Given the description of an element on the screen output the (x, y) to click on. 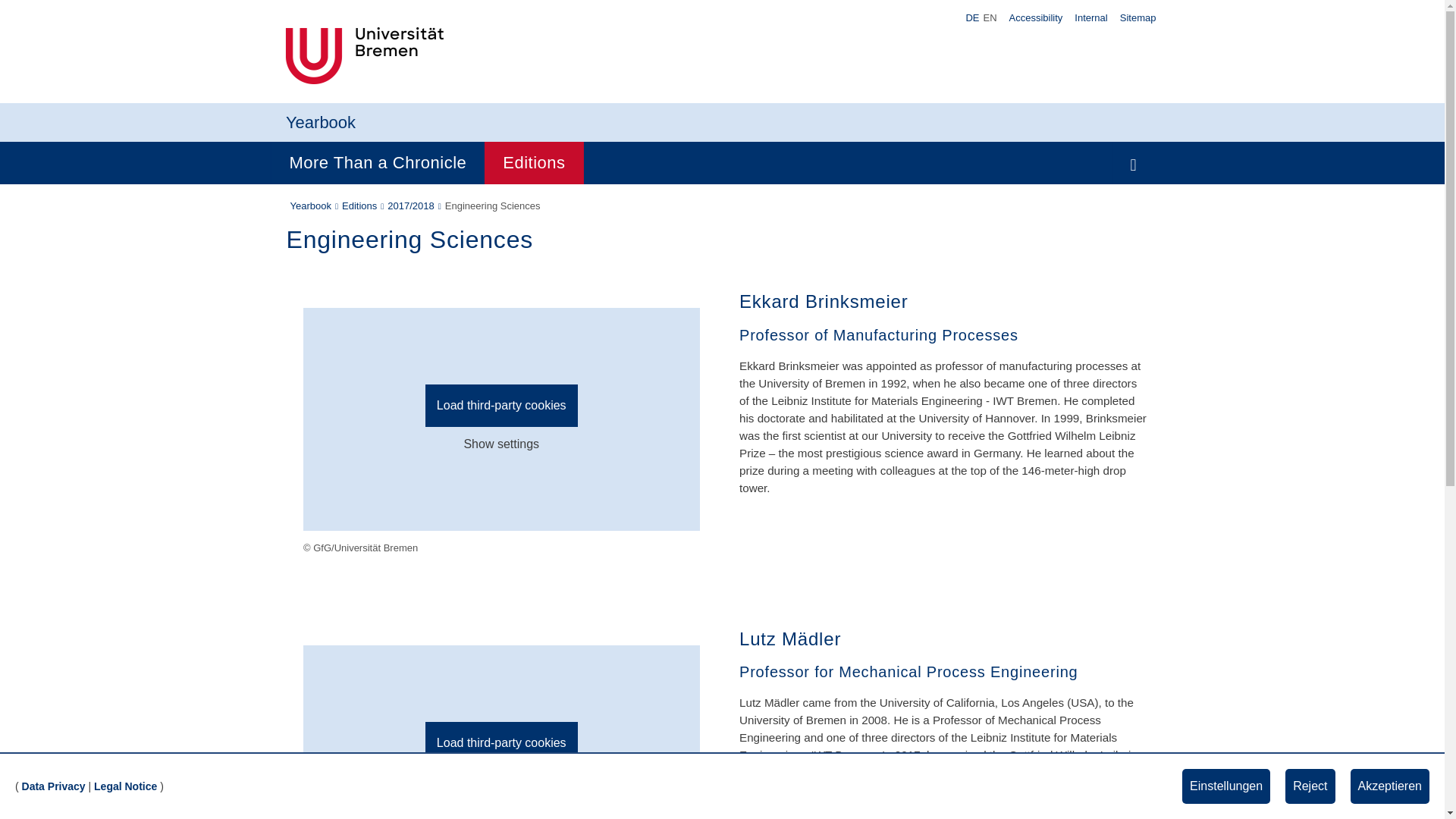
Sitemap (1137, 16)
Internal (1090, 16)
Editions (533, 162)
Yearbook (320, 122)
DE (971, 17)
Accessibility (1035, 16)
Scroll to the bottom of the page (1411, 785)
More Than a Chronicle (377, 162)
